Given the description of an element on the screen output the (x, y) to click on. 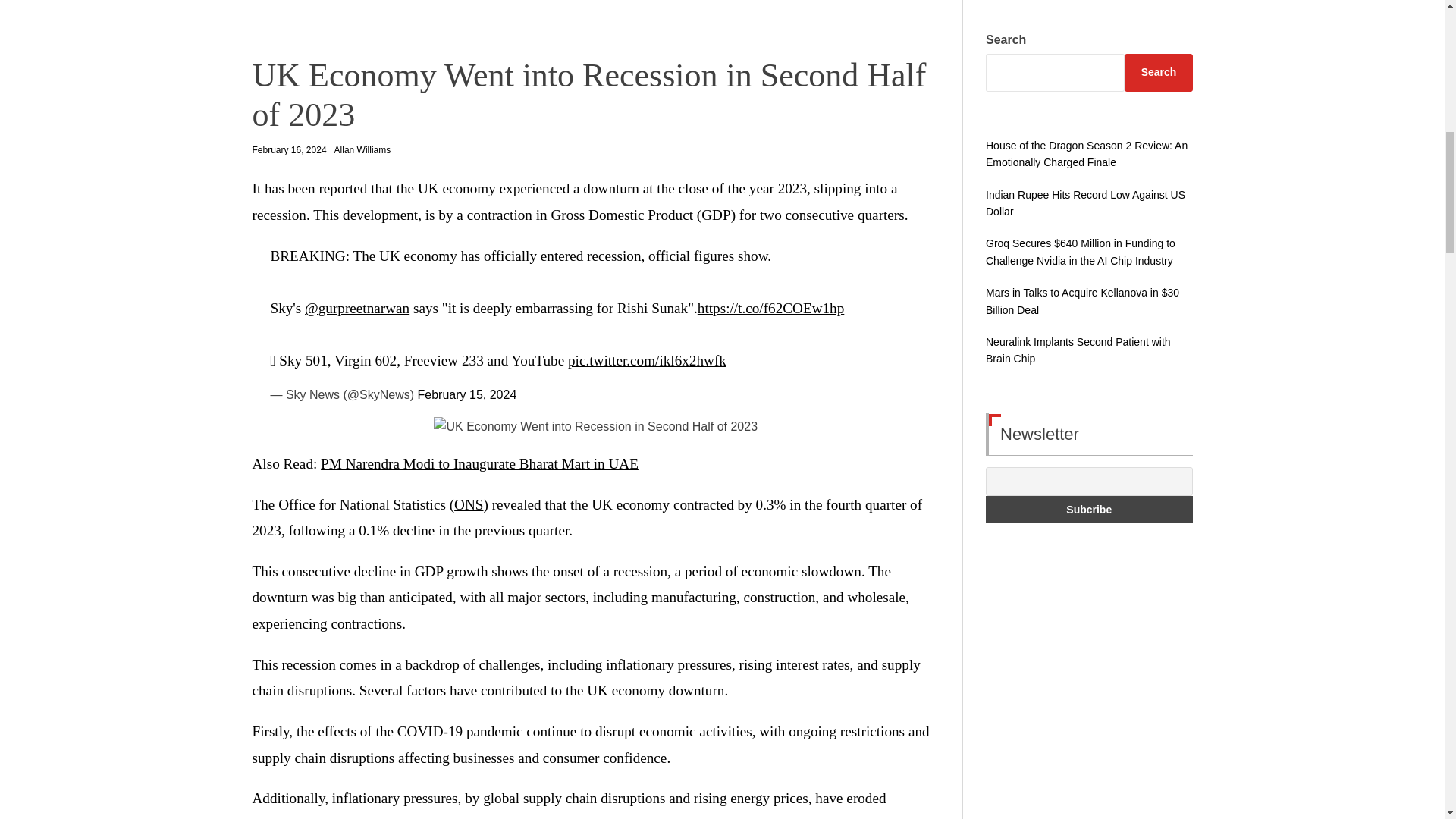
ONS (468, 504)
PM Narendra Modi to Inaugurate Bharat Mart in UAE (479, 463)
Allan Williams (362, 149)
February 16, 2024 (288, 150)
February 15, 2024 (466, 394)
